Given the description of an element on the screen output the (x, y) to click on. 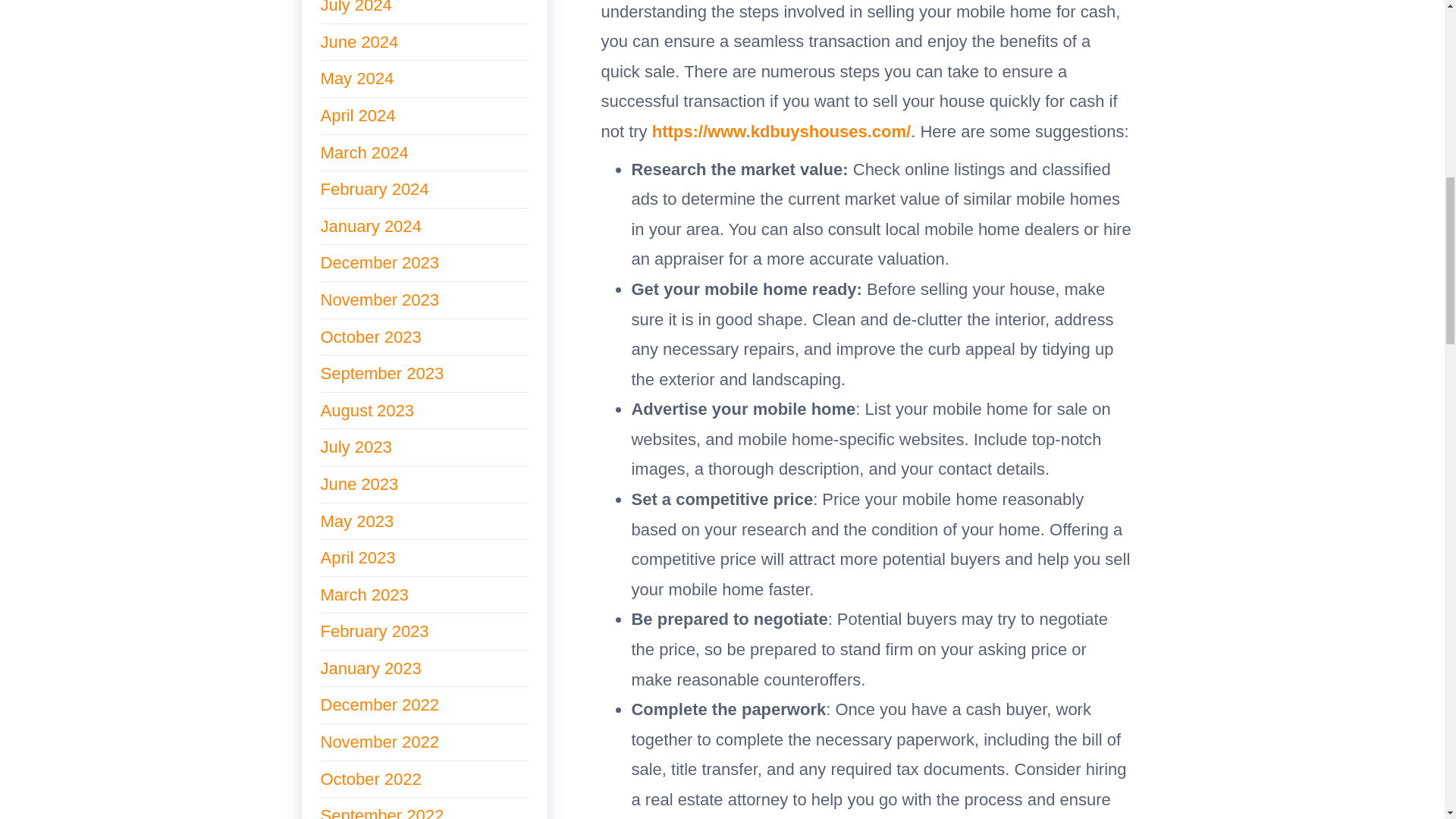
March 2023 (363, 594)
July 2023 (355, 446)
July 2024 (355, 7)
November 2022 (379, 741)
September 2022 (382, 812)
February 2024 (374, 189)
November 2023 (379, 299)
October 2022 (370, 778)
December 2023 (379, 262)
December 2022 (379, 704)
